Given the description of an element on the screen output the (x, y) to click on. 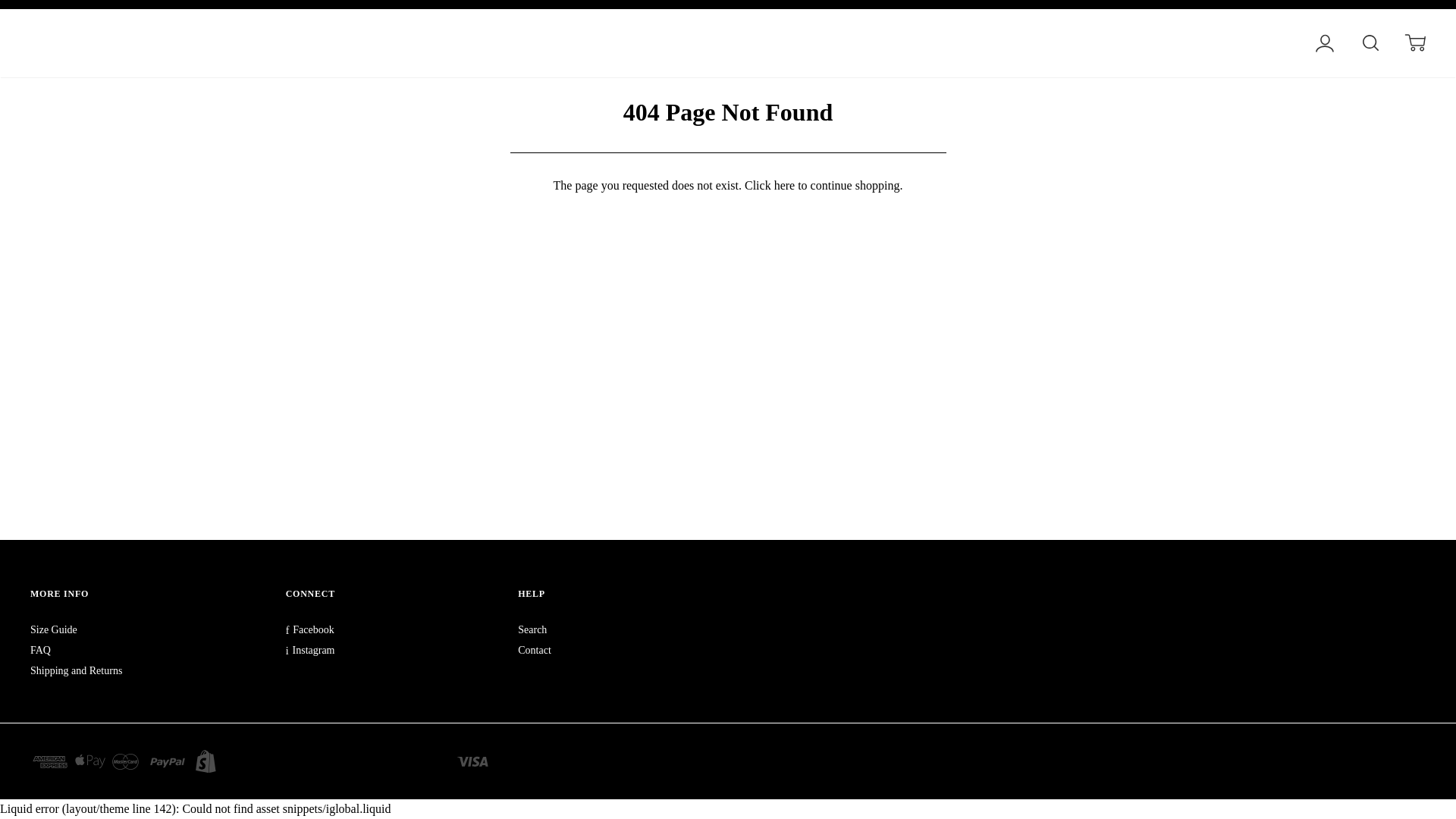
Size Guide (53, 628)
Instagram (309, 650)
Shipping and Returns (76, 670)
Contact (534, 650)
Search (532, 628)
here (784, 185)
FAQ (40, 650)
Facebook (309, 628)
